Given the description of an element on the screen output the (x, y) to click on. 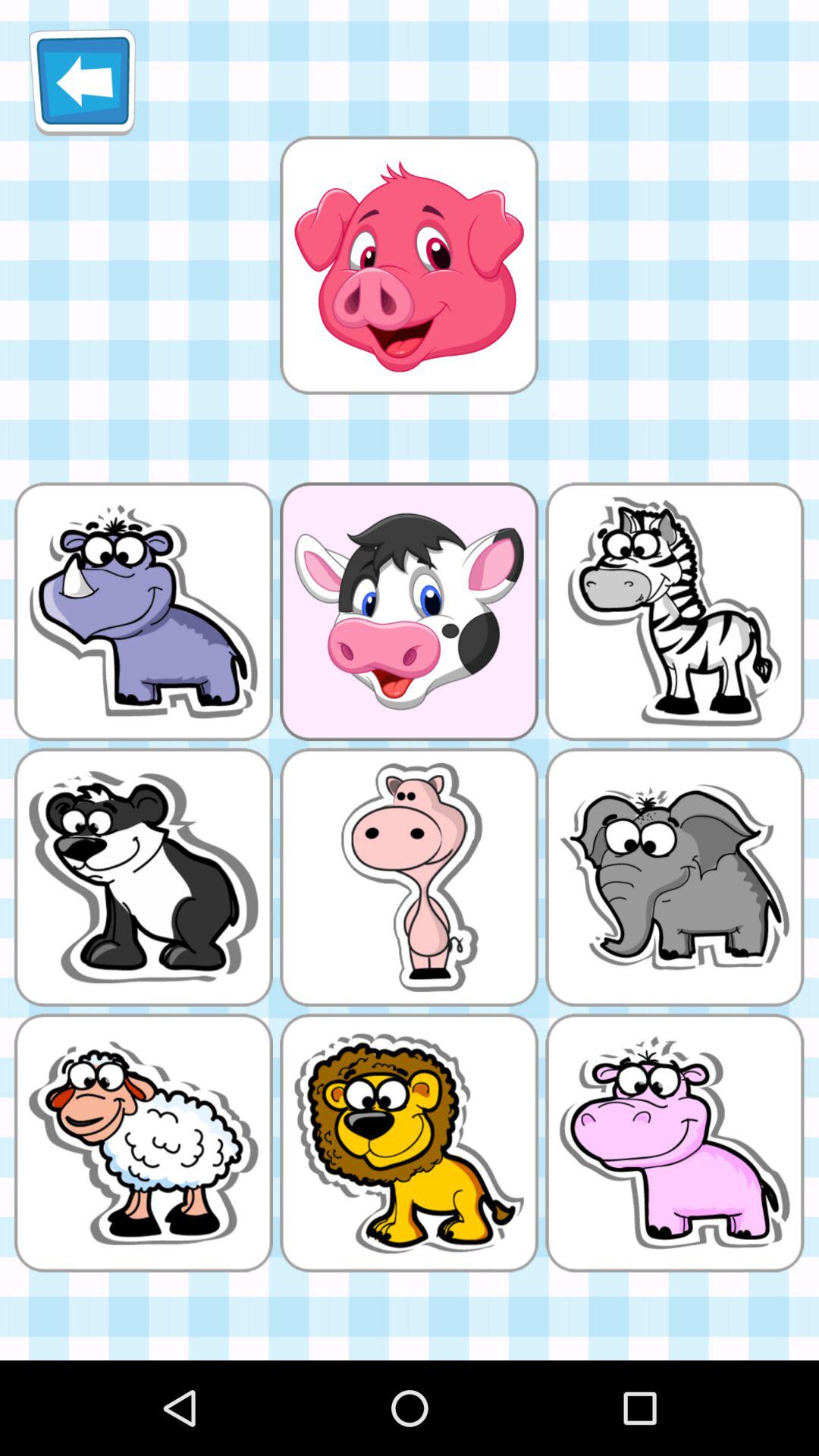
picture selected (409, 264)
